Given the description of an element on the screen output the (x, y) to click on. 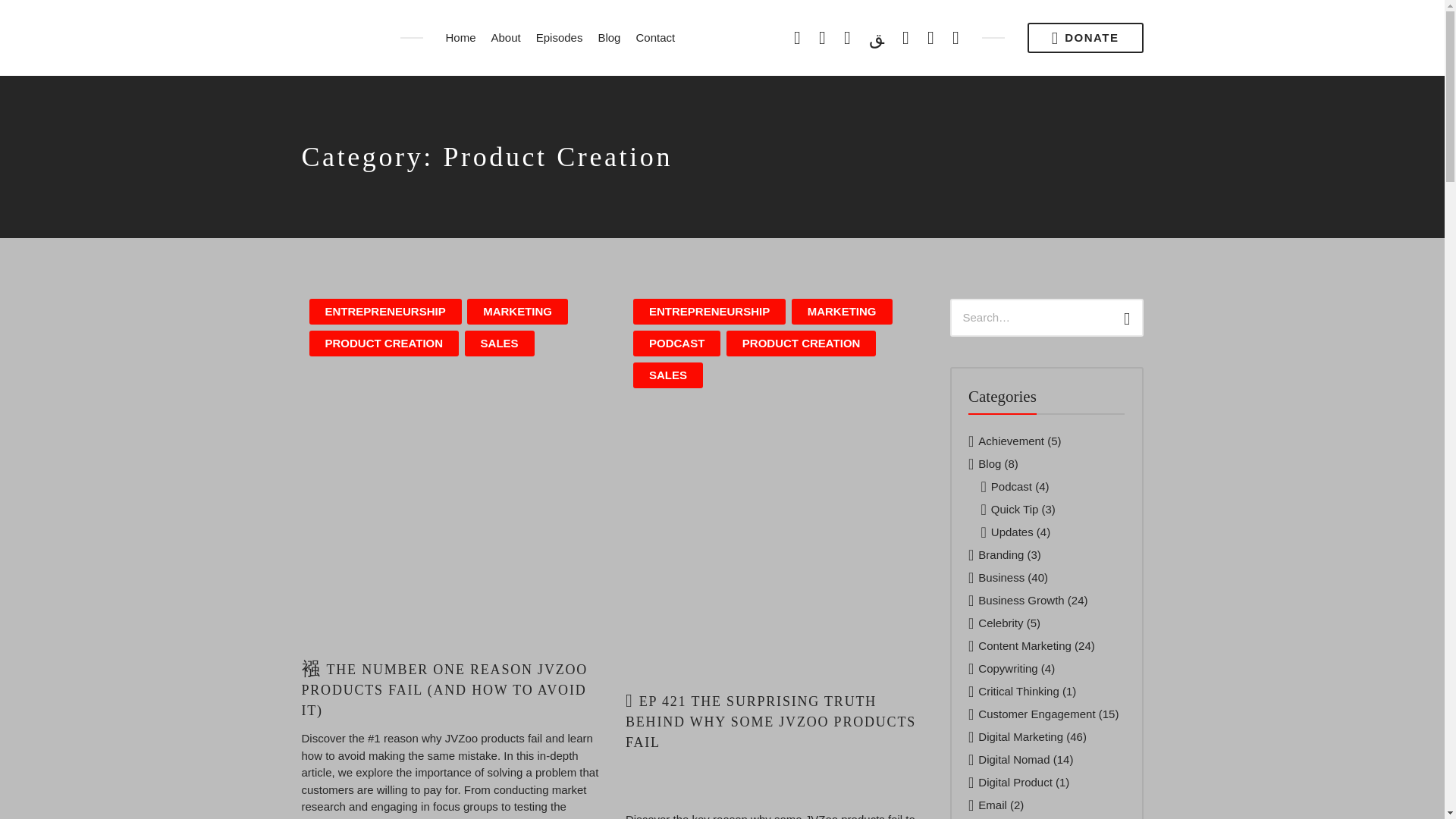
Instagram (931, 37)
Contact (654, 37)
FaceBook Page (797, 37)
YouTube Channel (906, 37)
SALES (499, 343)
Blog (608, 37)
PRODUCT CREATION (384, 343)
Home (460, 37)
PODCAST (676, 343)
